Given the description of an element on the screen output the (x, y) to click on. 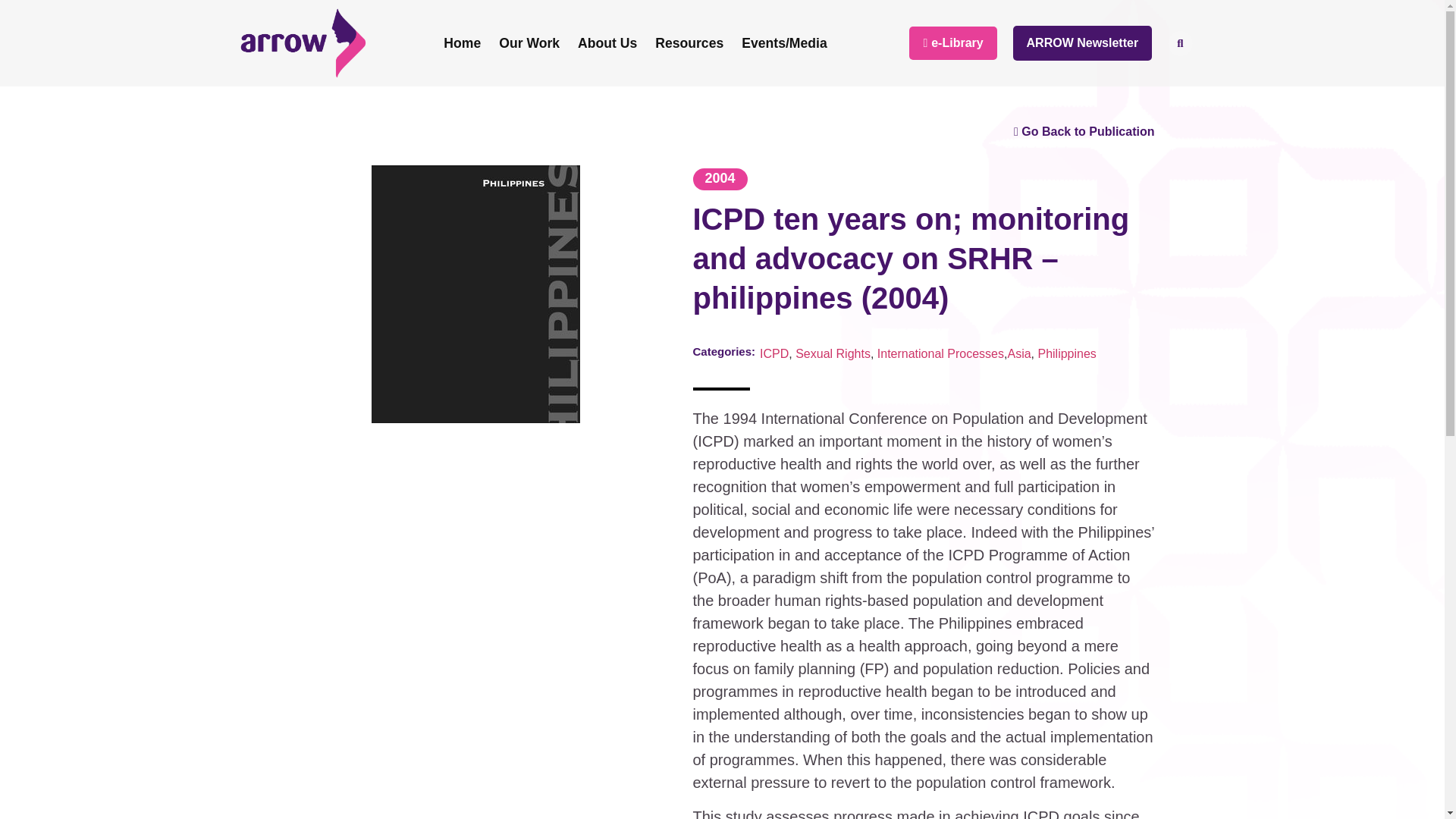
About Us (607, 42)
Resources (689, 42)
Our Work (529, 42)
ARROW Newsletter (1083, 42)
e-Library (951, 42)
Home (461, 42)
